Given the description of an element on the screen output the (x, y) to click on. 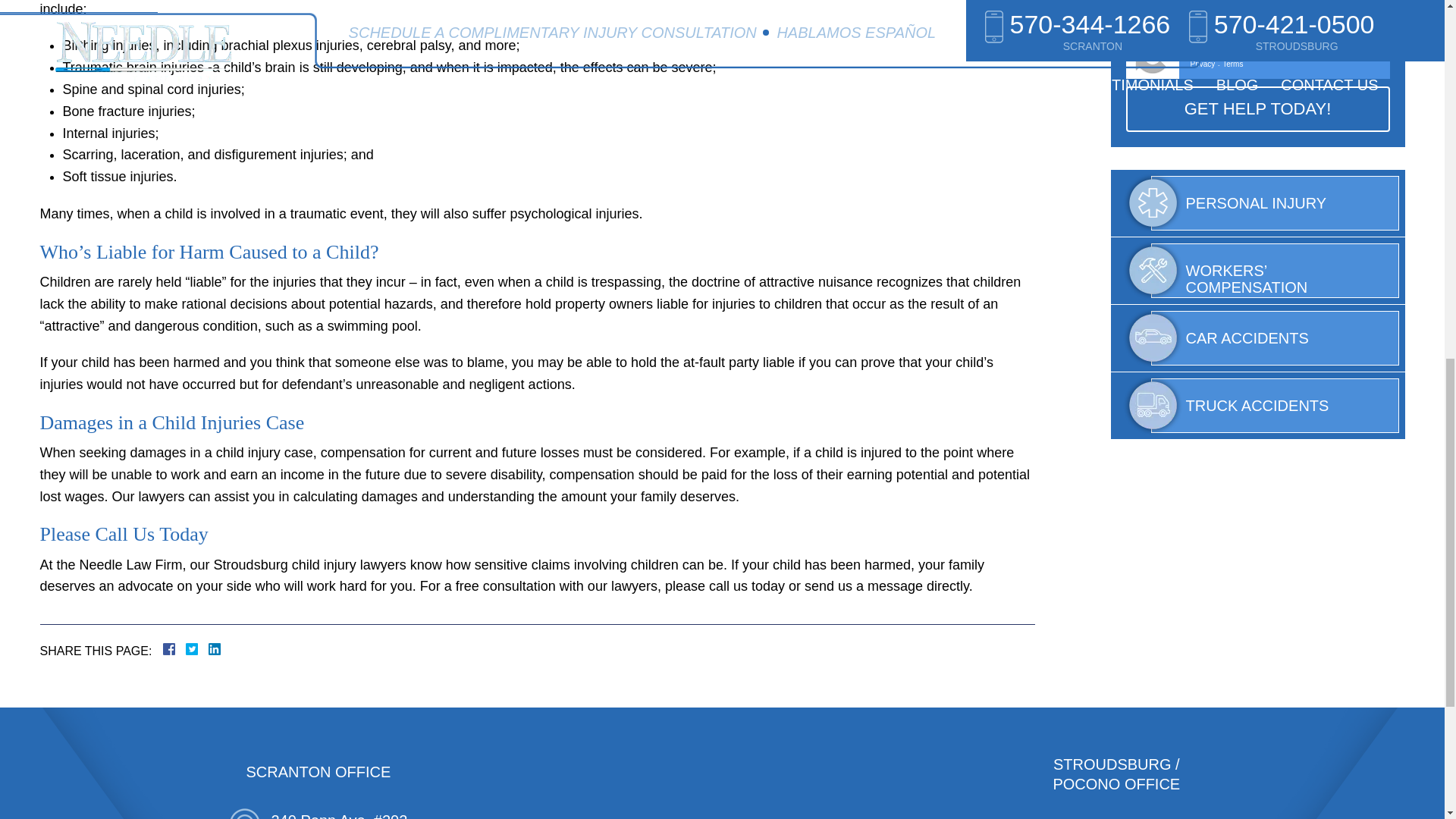
Twitter (197, 648)
Facebook (187, 648)
Get Help Today! (1257, 108)
LinkedIn (208, 648)
